Given the description of an element on the screen output the (x, y) to click on. 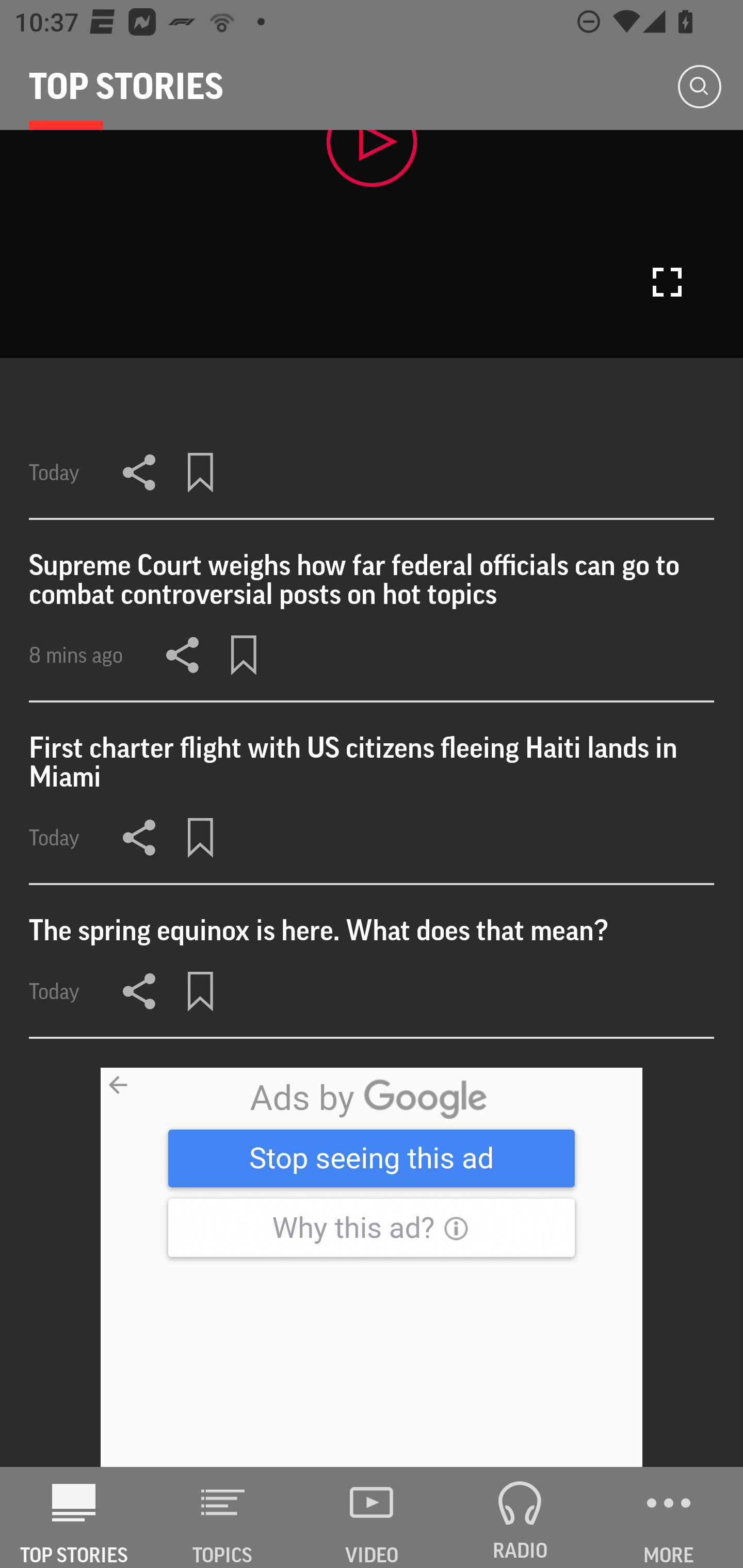
toggle controls Play Fullscreen Today (371, 325)
toggle controls Play Fullscreen (371, 243)
Play (371, 158)
Fullscreen (666, 282)
28 (371, 1267)
AP News TOP STORIES (74, 1517)
TOPICS (222, 1517)
VIDEO (371, 1517)
RADIO (519, 1517)
MORE (668, 1517)
